Given the description of an element on the screen output the (x, y) to click on. 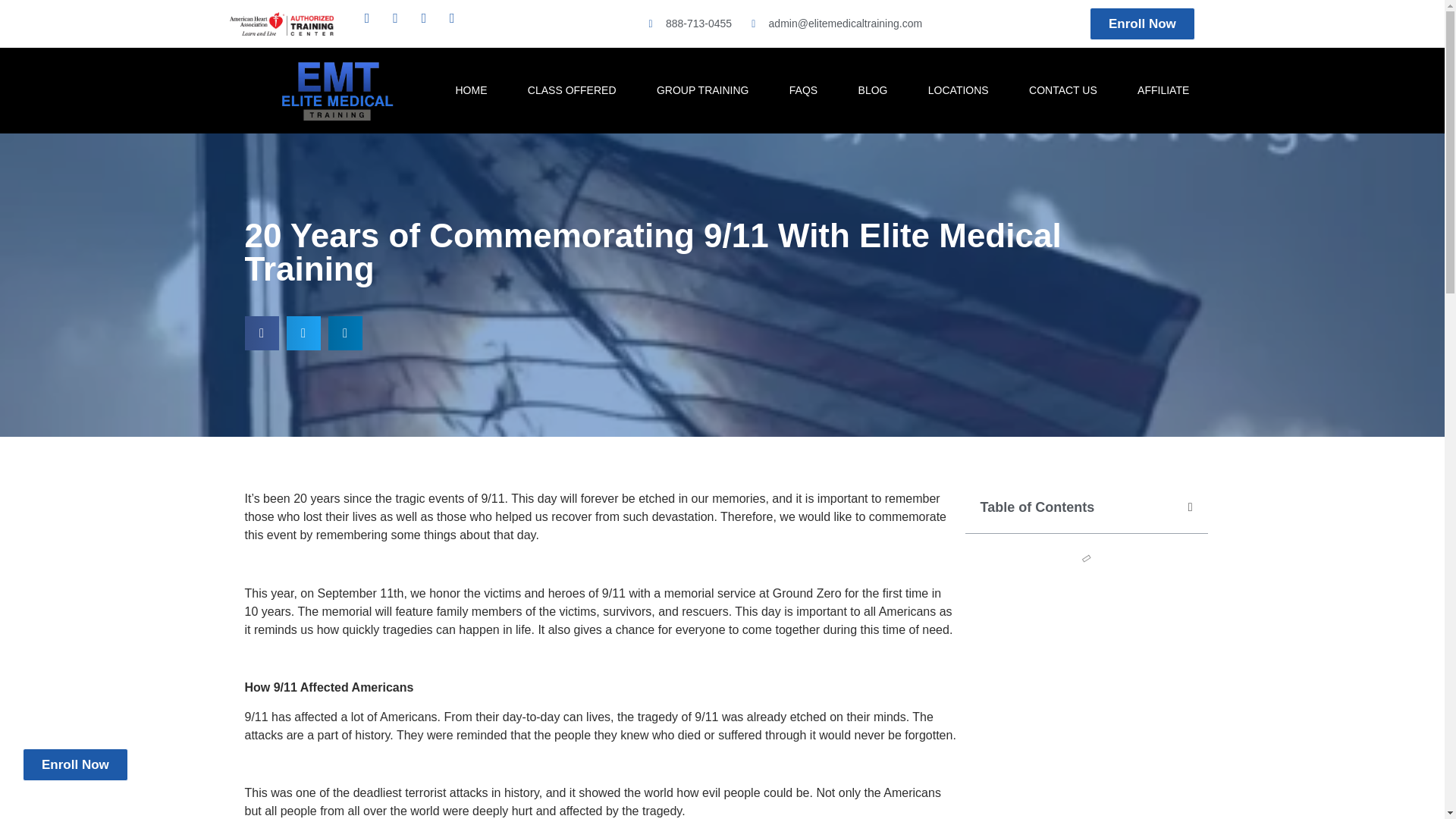
LOCATIONS (958, 90)
888-713-0455 (687, 23)
AFFILIATE (1163, 90)
CONTACT US (1062, 90)
FAQS (803, 90)
BLOG (872, 90)
GROUP TRAINING (703, 90)
Enroll Now (1142, 23)
CLASS OFFERED (571, 90)
HOME (470, 90)
